Given the description of an element on the screen output the (x, y) to click on. 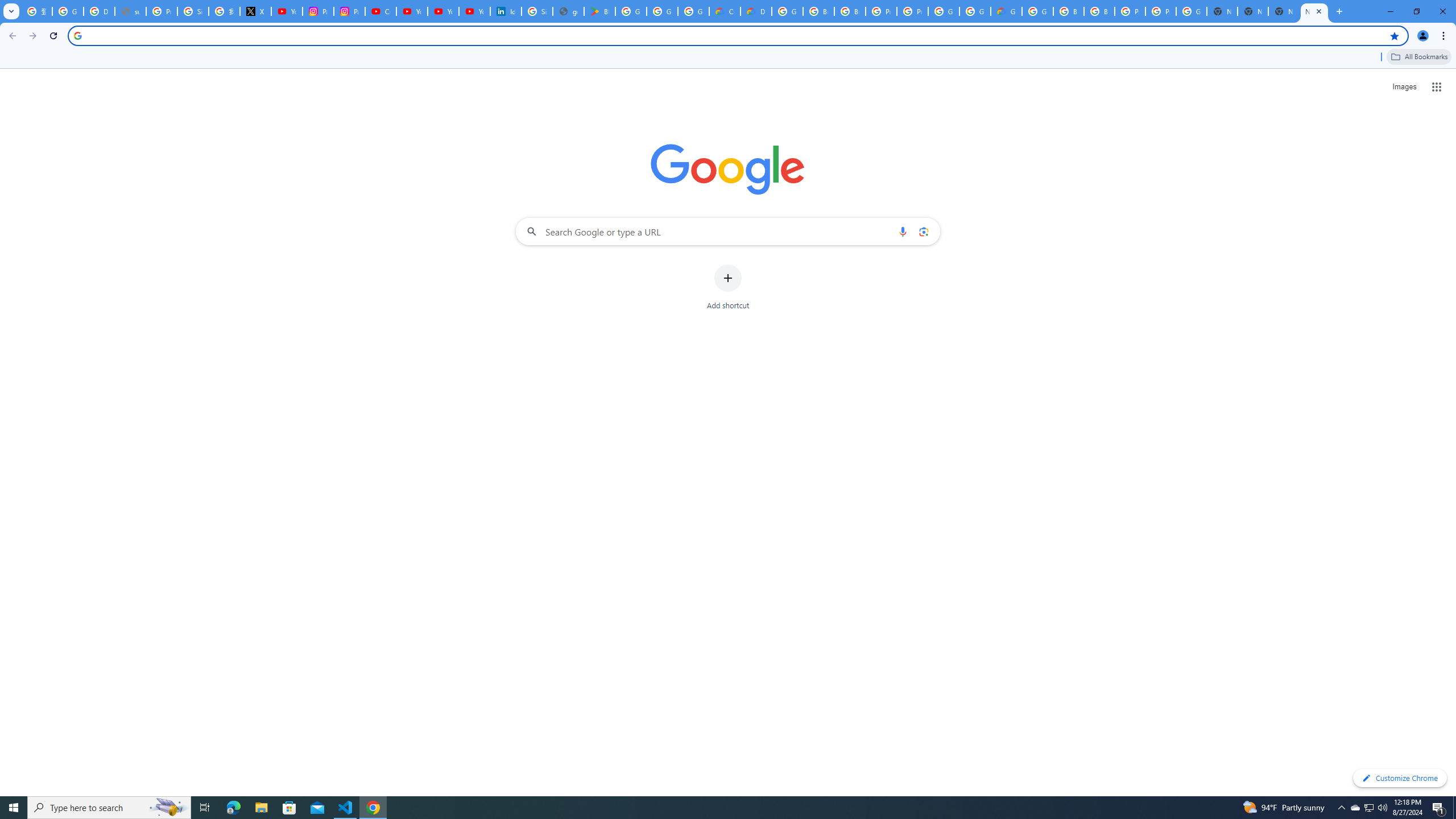
New Tab (1314, 11)
Privacy Help Center - Policies Help (161, 11)
Customer Care | Google Cloud (724, 11)
